Given the description of an element on the screen output the (x, y) to click on. 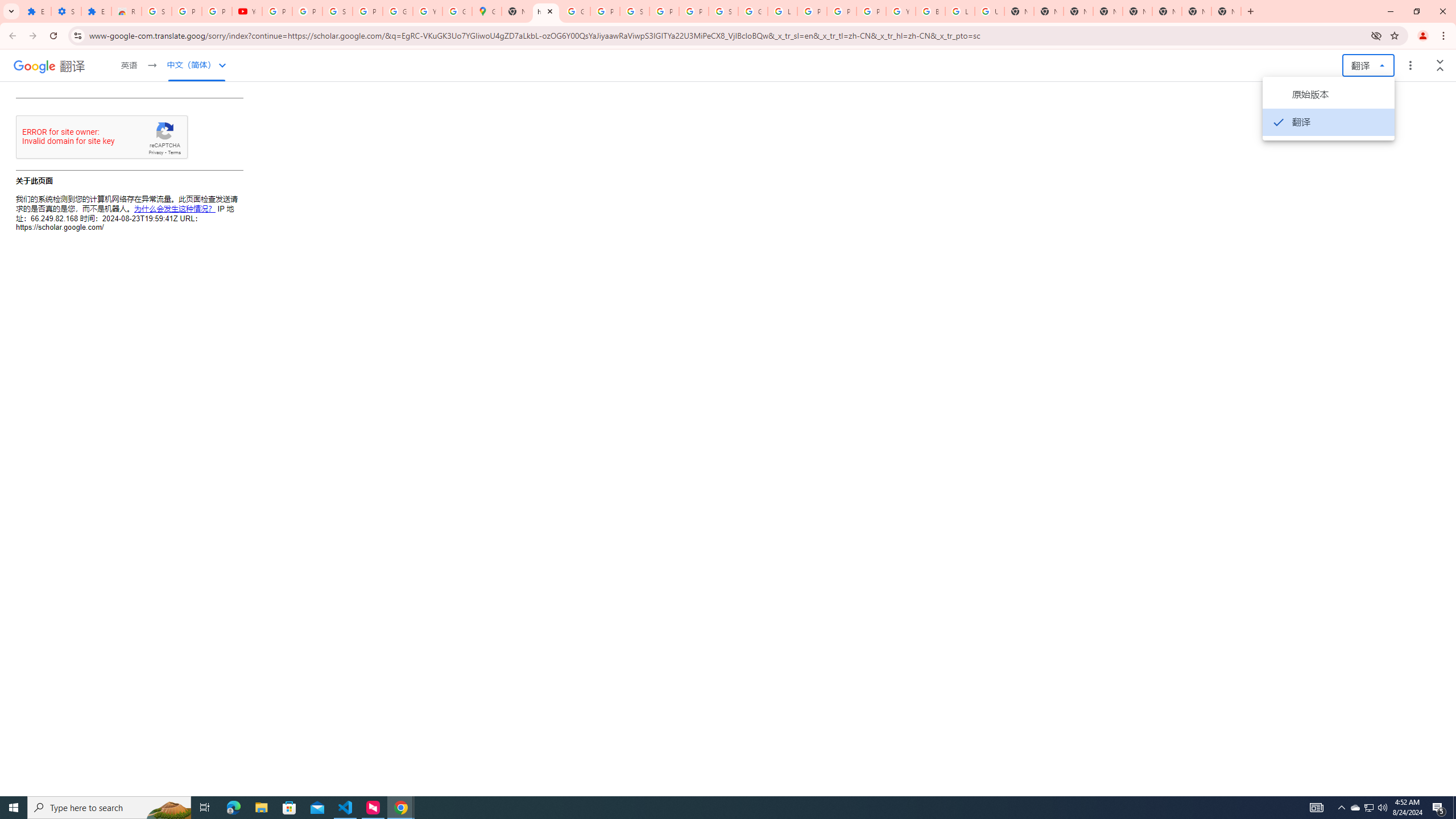
Sign in - Google Accounts (337, 11)
Sign in - Google Accounts (156, 11)
Extensions (95, 11)
YouTube (426, 11)
New Tab (1077, 11)
